Given the description of an element on the screen output the (x, y) to click on. 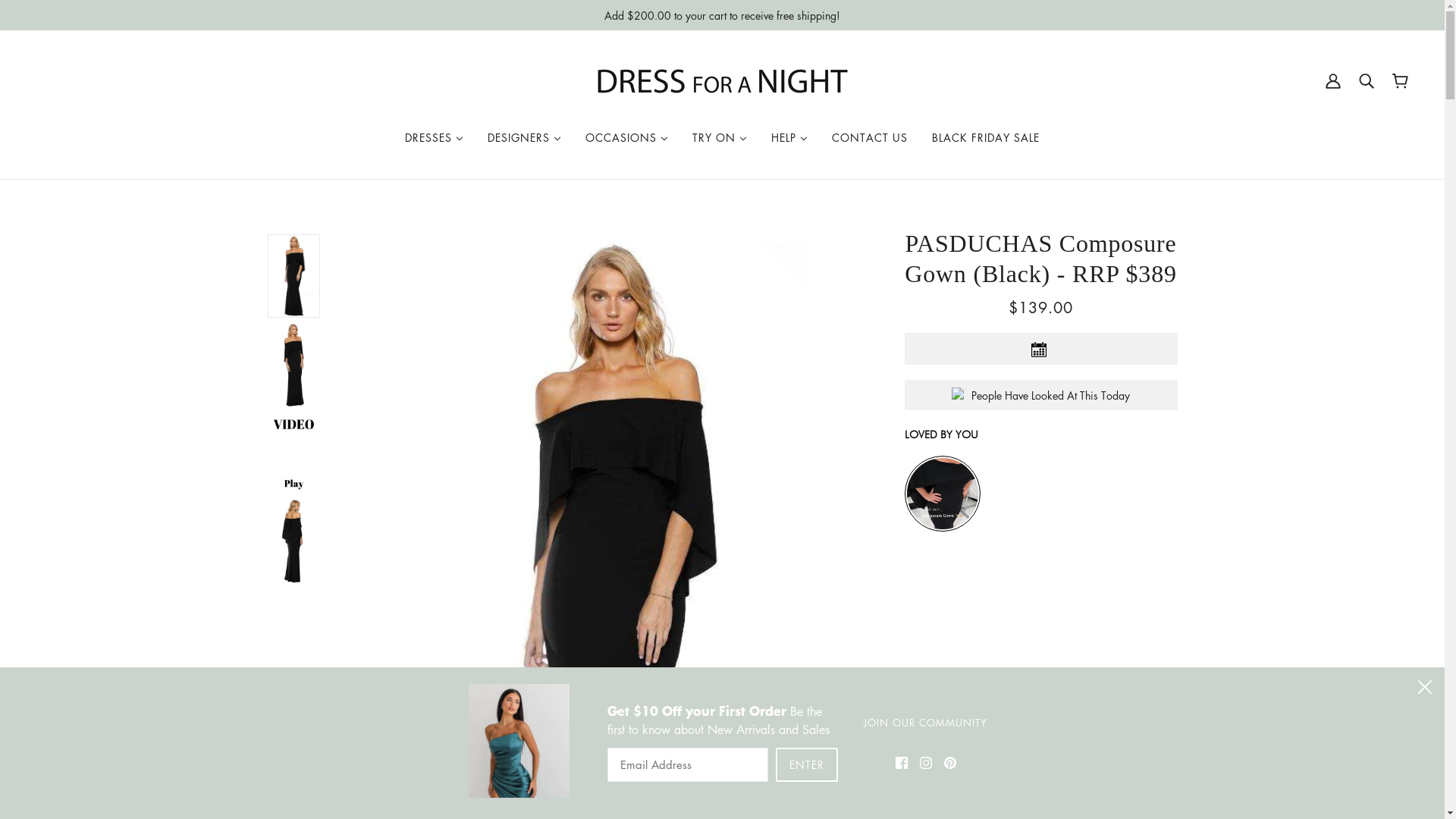
Add $200.00 to your cart to receive free shipping! Element type: text (722, 15)
HELP  Element type: text (789, 136)
Dress for a Night Element type: hover (722, 80)
DESIGNERS  Element type: text (524, 136)
TRY ON  Element type: text (719, 136)
OCCASIONS  Element type: text (626, 136)
DRESSES  Element type: text (433, 136)
CONTACT US Element type: text (869, 136)
BLACK FRIDAY SALE Element type: text (985, 136)
ENTER Element type: text (806, 764)
